Given the description of an element on the screen output the (x, y) to click on. 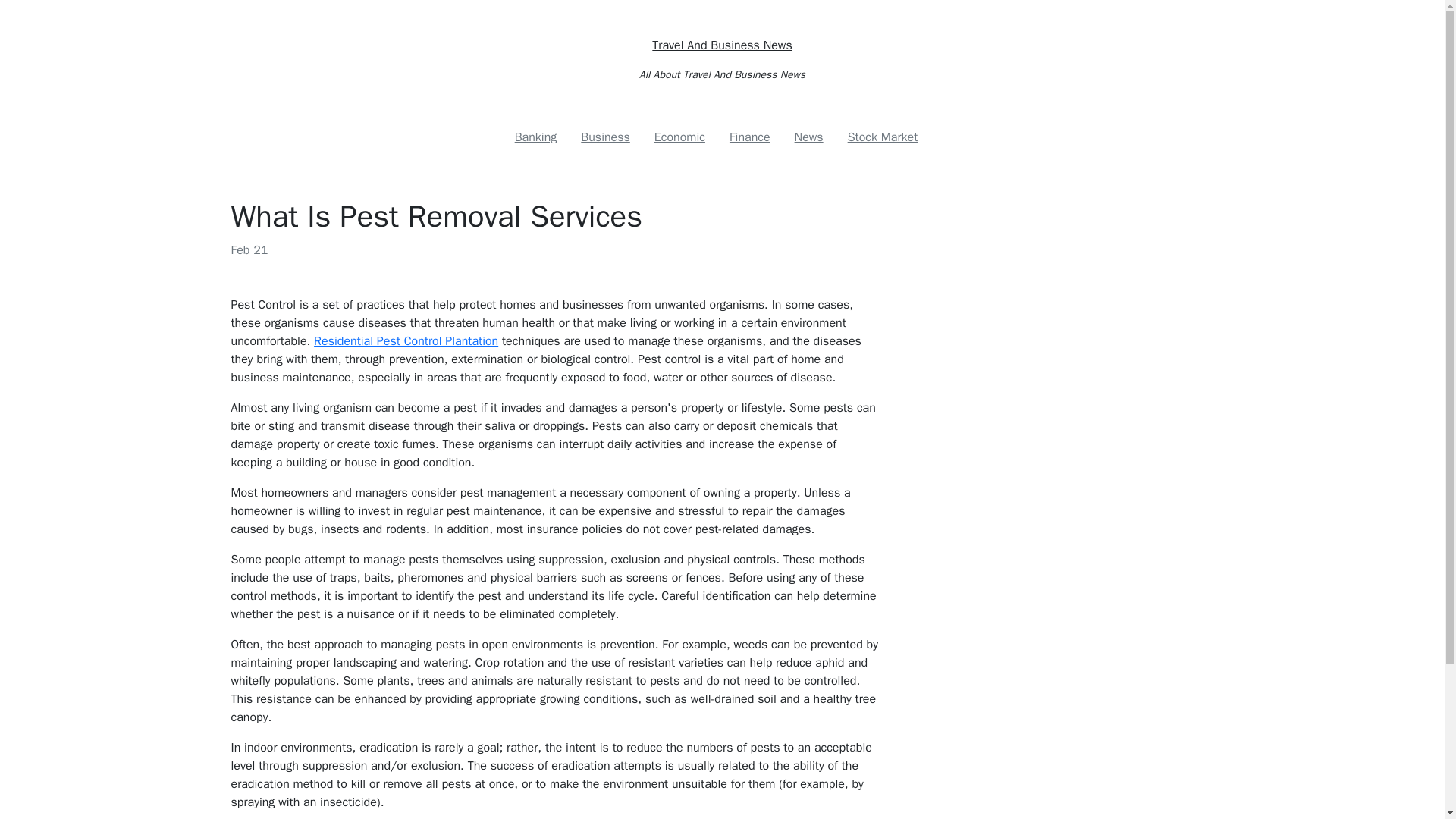
News (809, 137)
Residential Pest Control Plantation (405, 340)
Stock Market (882, 137)
Banking (535, 137)
Business (605, 137)
Travel And Business News (722, 45)
Finance (749, 137)
Economic (721, 136)
